Given the description of an element on the screen output the (x, y) to click on. 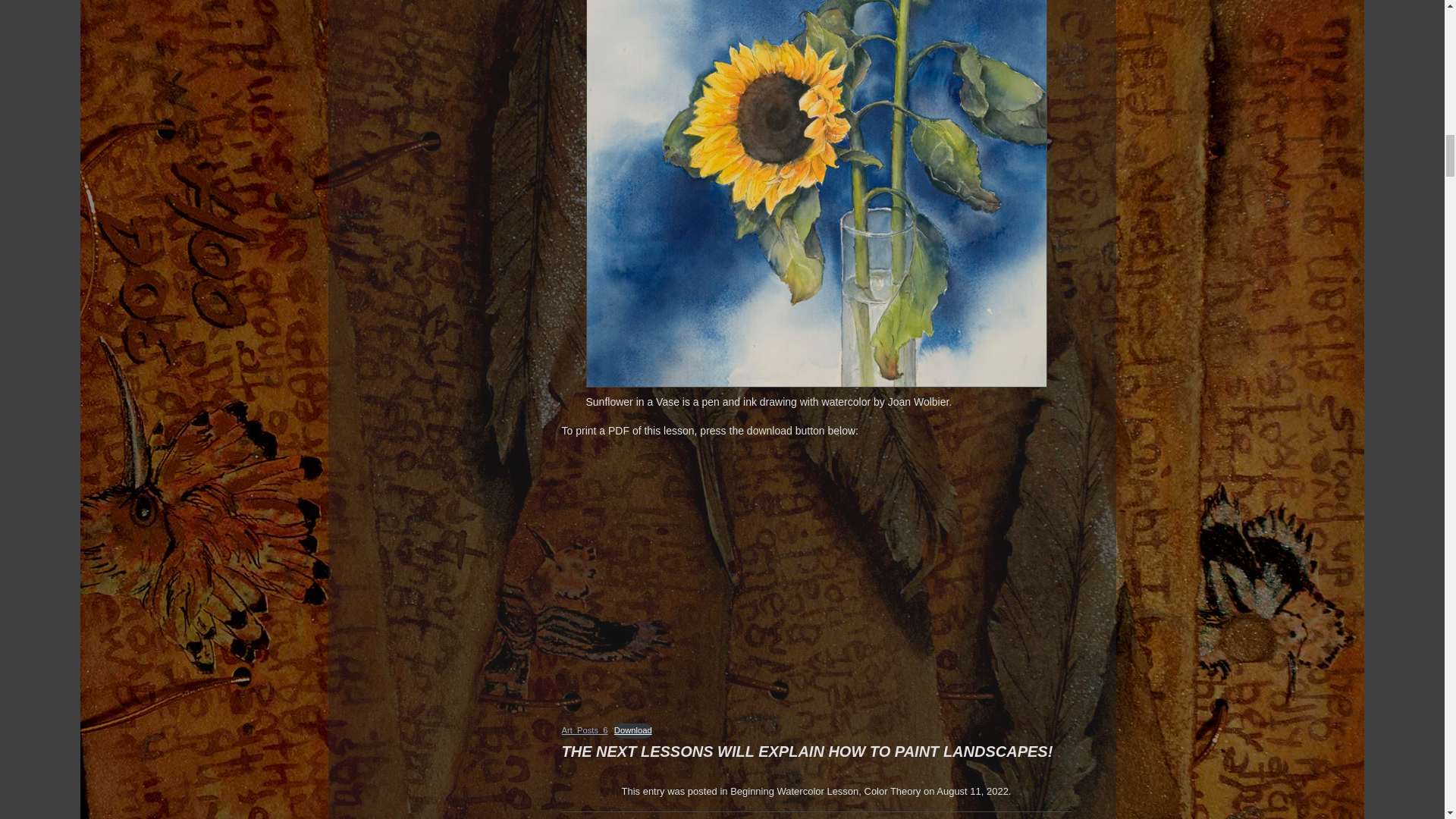
Color Theory (892, 790)
August 11, 2022 (972, 790)
Beginning Watercolor Lesson (794, 790)
8:10 pm (972, 790)
Download (633, 730)
